Given the description of an element on the screen output the (x, y) to click on. 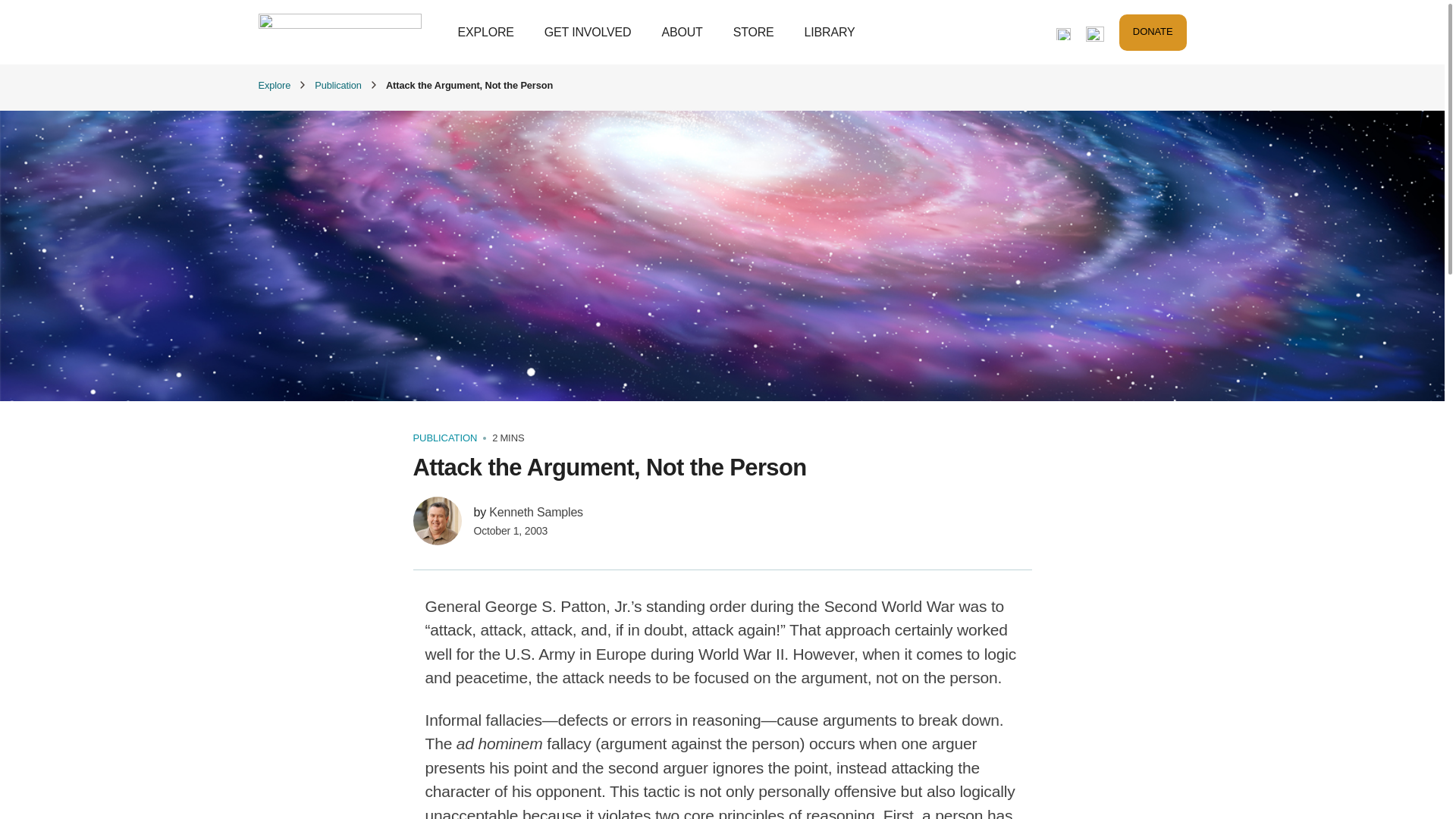
LIBRARY (830, 31)
DONATE (1152, 31)
EXPLORE (485, 31)
Reasons to Believe (338, 32)
ABOUT (681, 31)
GET INVOLVED (587, 31)
STORE (753, 31)
